Given the description of an element on the screen output the (x, y) to click on. 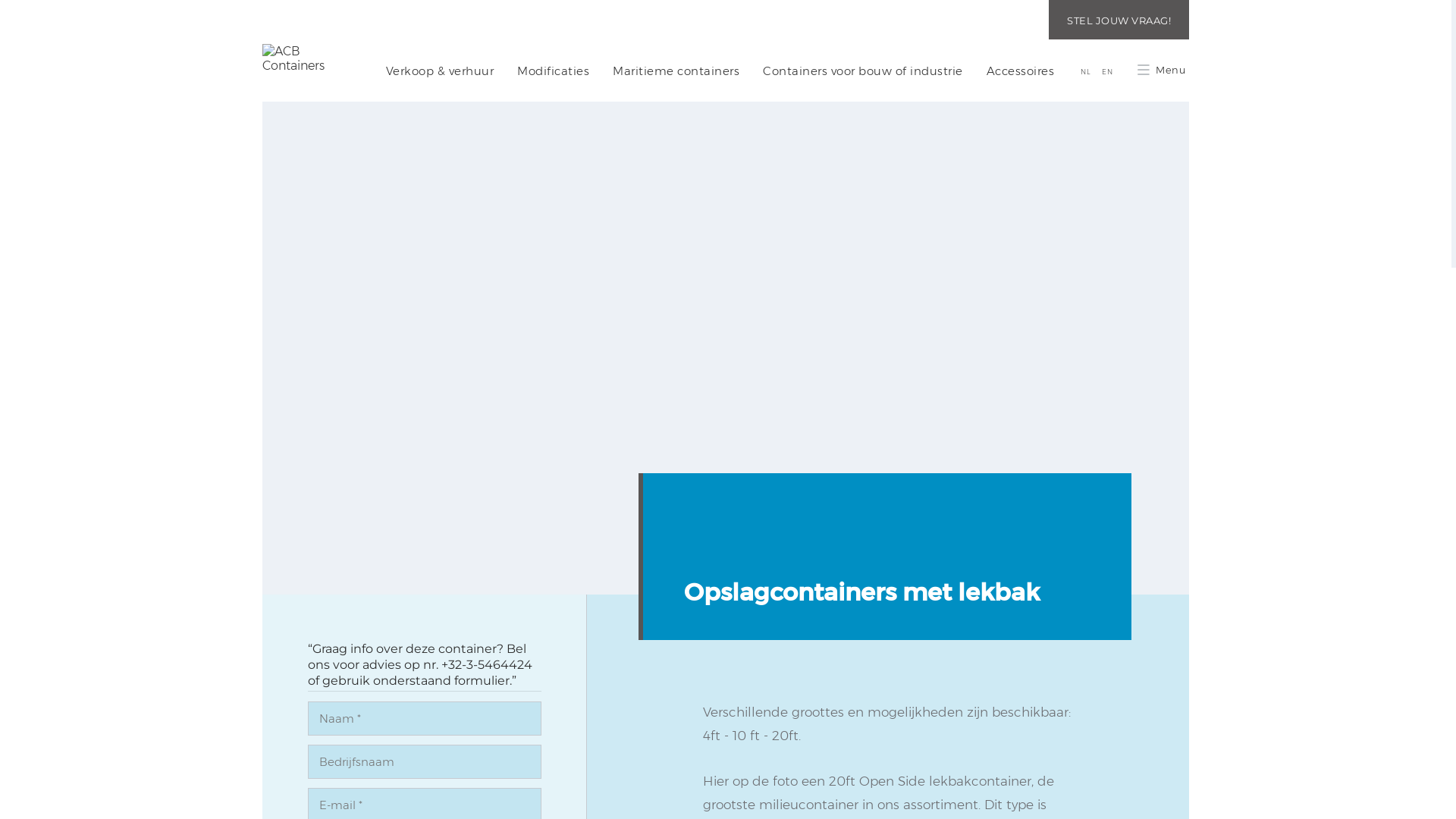
Containers voor bouw of industrie Element type: text (862, 70)
ACB Containers Element type: hover (308, 57)
Accessoires Element type: text (1020, 70)
Modificaties Element type: text (553, 70)
Maritieme containers Element type: text (675, 70)
STEL JOUW VRAAG! Element type: text (1118, 19)
Menu Element type: text (1161, 69)
NL Element type: text (1085, 71)
Verkoop & verhuur Element type: text (439, 70)
EN Element type: text (1107, 71)
